Given the description of an element on the screen output the (x, y) to click on. 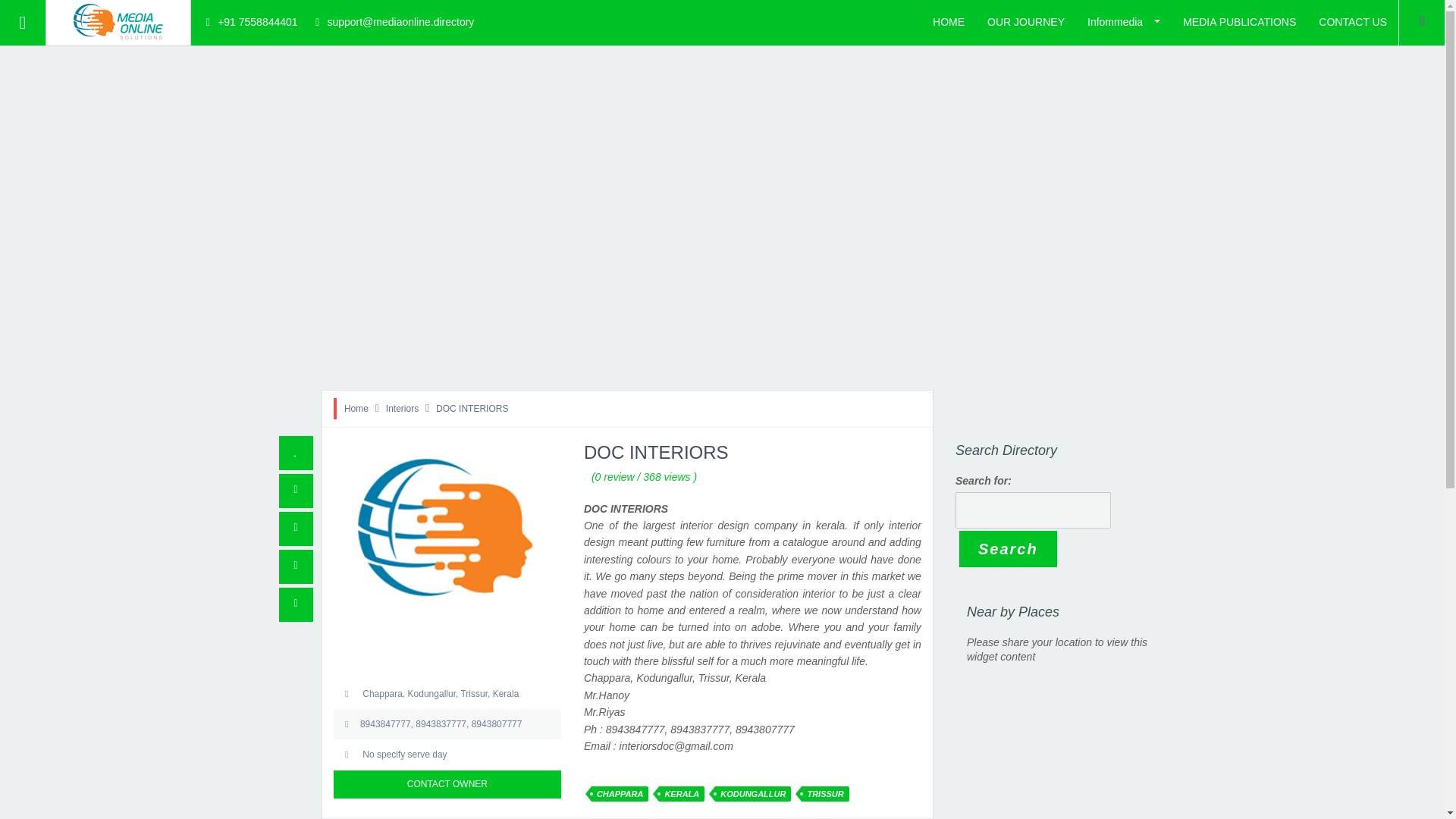
Search (1008, 548)
TRISSUR (825, 793)
Infommedia (1123, 21)
HOME (948, 21)
Business cards (37, 258)
Home (355, 408)
Open days (446, 754)
OUR JOURNEY (1025, 21)
Report (296, 566)
Search (18, 163)
CONTACT US (35, 305)
Kerala Bus Stations (48, 352)
MEDIA PUBLICATIONS (1238, 21)
HOME (17, 69)
CHAPPARA (620, 793)
